Given the description of an element on the screen output the (x, y) to click on. 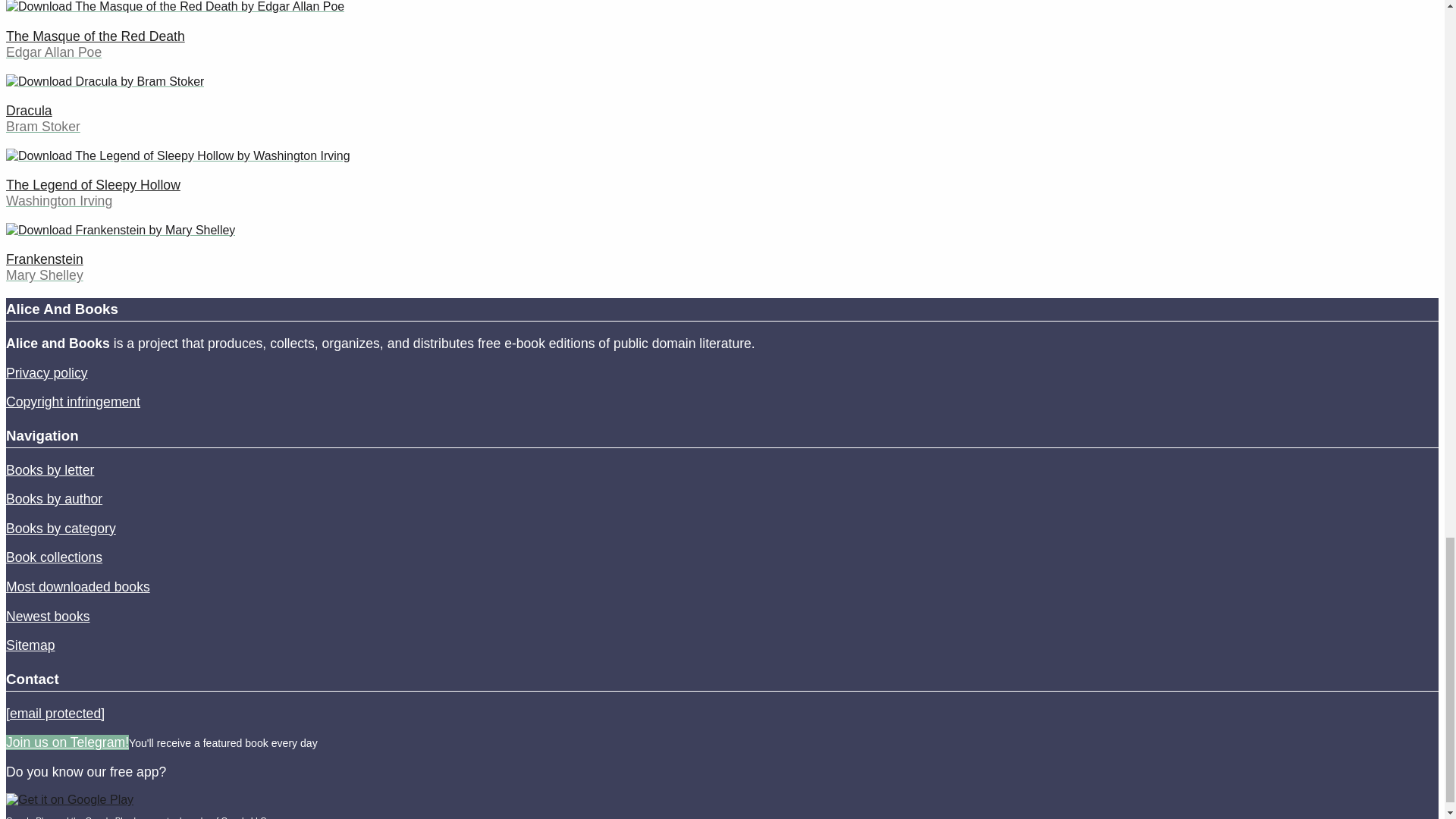
Edgar Allan Poe (53, 52)
Privacy policy (46, 372)
Dracula (28, 110)
Download The Legend of Sleepy Hollow by Washington Irving (177, 156)
Download Dracula by Bram Stoker (104, 81)
The Masque of the Red Death (94, 36)
Most downloaded books (77, 586)
Bram Stoker (42, 126)
Newest books (47, 616)
The Legend of Sleepy Hollow (92, 184)
Download Frankenstein by Mary Shelley (119, 230)
Privacy policy (46, 372)
Books by letter (49, 469)
Frankenstein (43, 258)
Mary Shelley (43, 274)
